Given the description of an element on the screen output the (x, y) to click on. 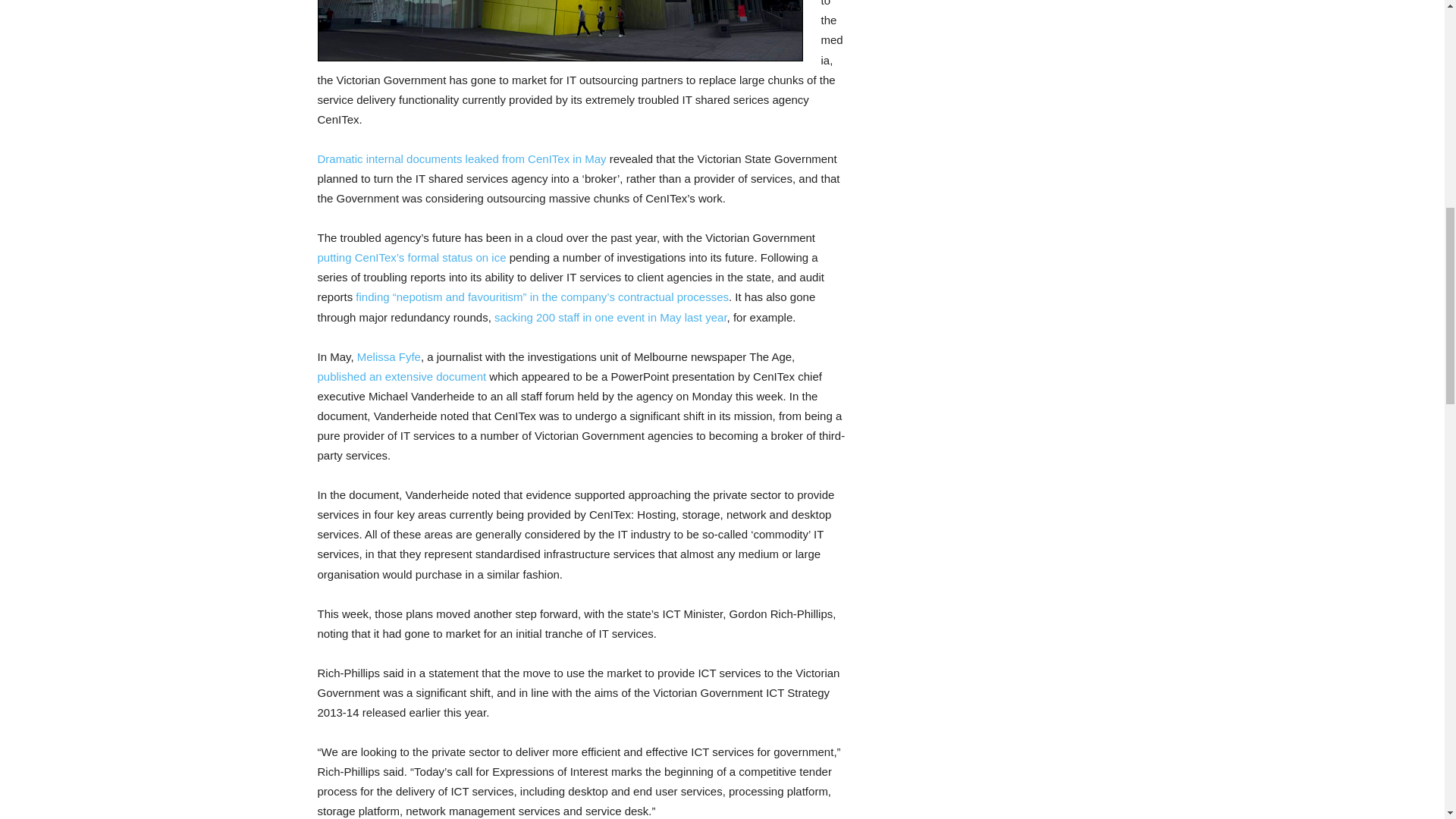
Melissa Fyfe (388, 356)
sacking 200 staff in one event in May last year (610, 317)
published an extensive document (401, 376)
Dramatic internal documents leaked from CenITex in May (461, 158)
